Given the description of an element on the screen output the (x, y) to click on. 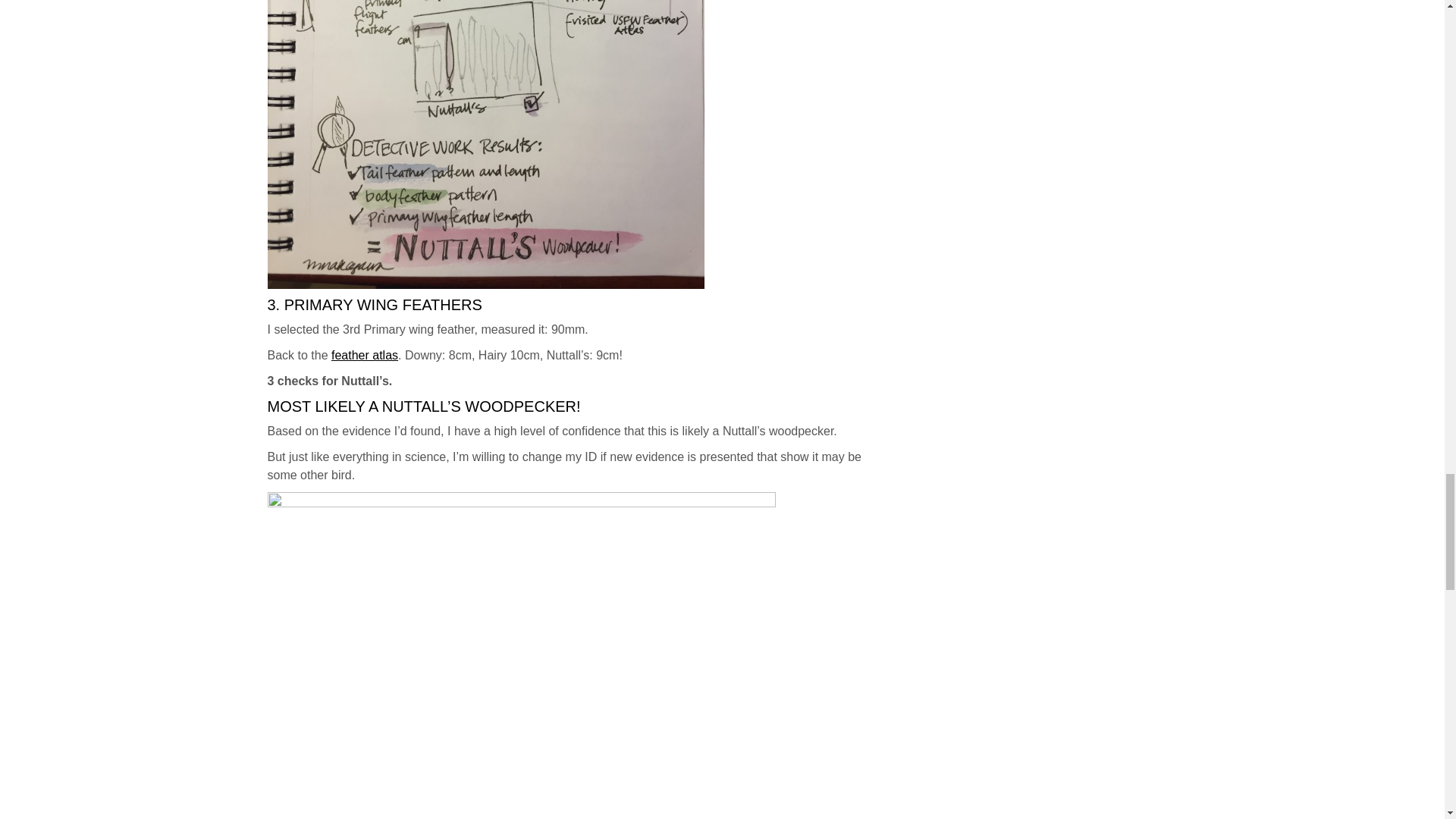
feather atlas (364, 354)
